Given the description of an element on the screen output the (x, y) to click on. 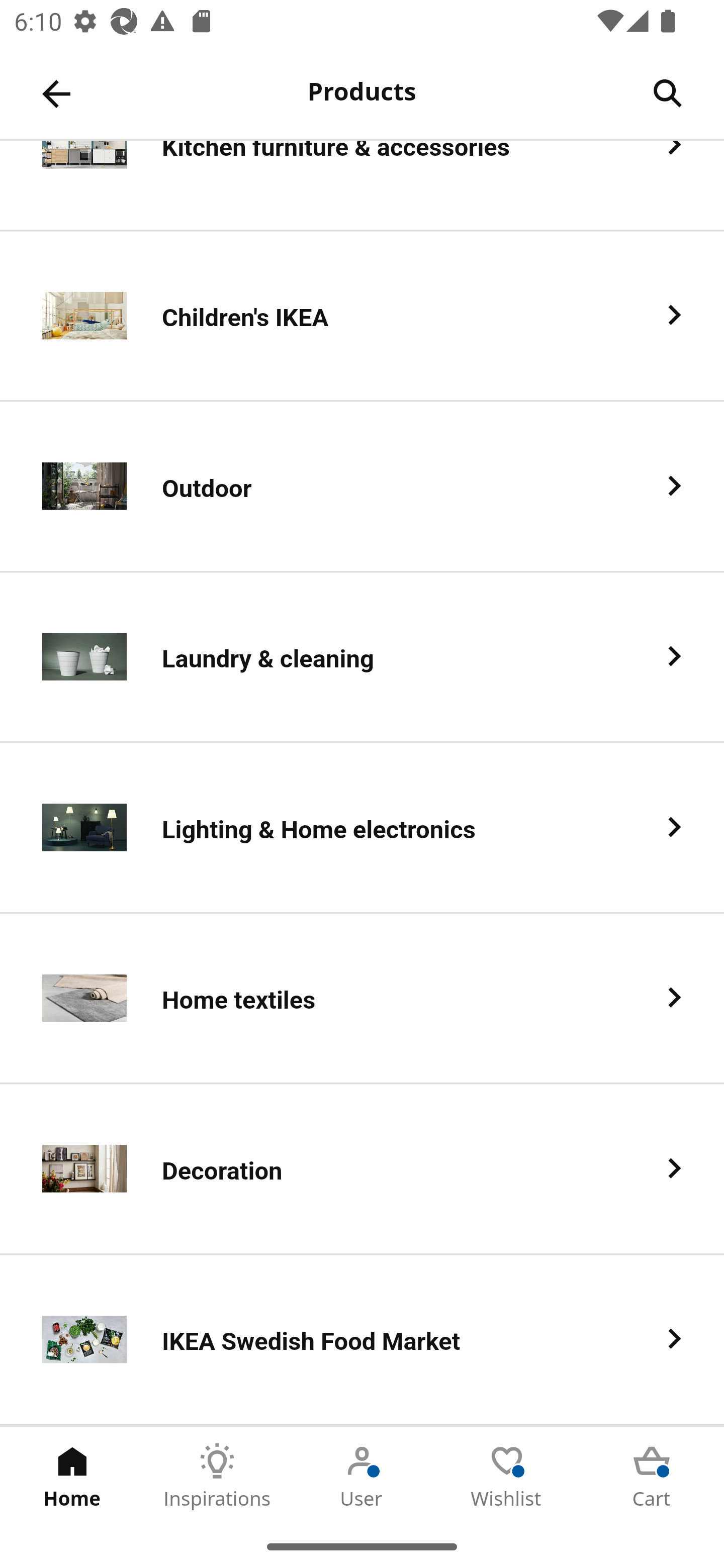
Children's IKEA (362, 315)
Outdoor (362, 486)
Laundry & cleaning (362, 657)
Lighting & Home electronics (362, 828)
Home textiles (362, 999)
Decoration (362, 1169)
IKEA Swedish Food Market (362, 1339)
Home
Tab 1 of 5 (72, 1476)
Inspirations
Tab 2 of 5 (216, 1476)
User
Tab 3 of 5 (361, 1476)
Wishlist
Tab 4 of 5 (506, 1476)
Cart
Tab 5 of 5 (651, 1476)
